Given the description of an element on the screen output the (x, y) to click on. 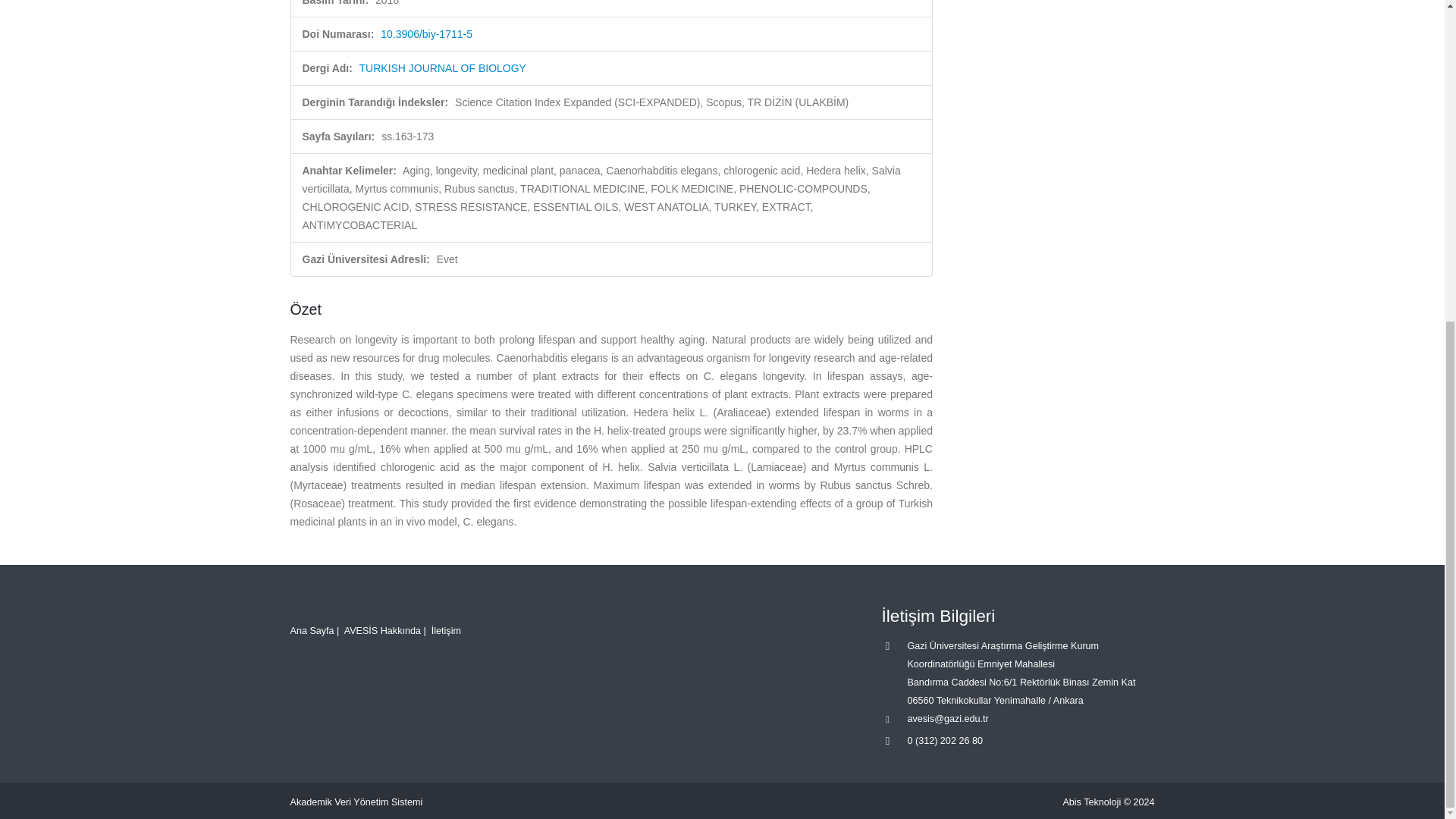
Ana Sayfa (311, 630)
TURKISH JOURNAL OF BIOLOGY (442, 68)
Abis Teknoloji (1091, 801)
